Given the description of an element on the screen output the (x, y) to click on. 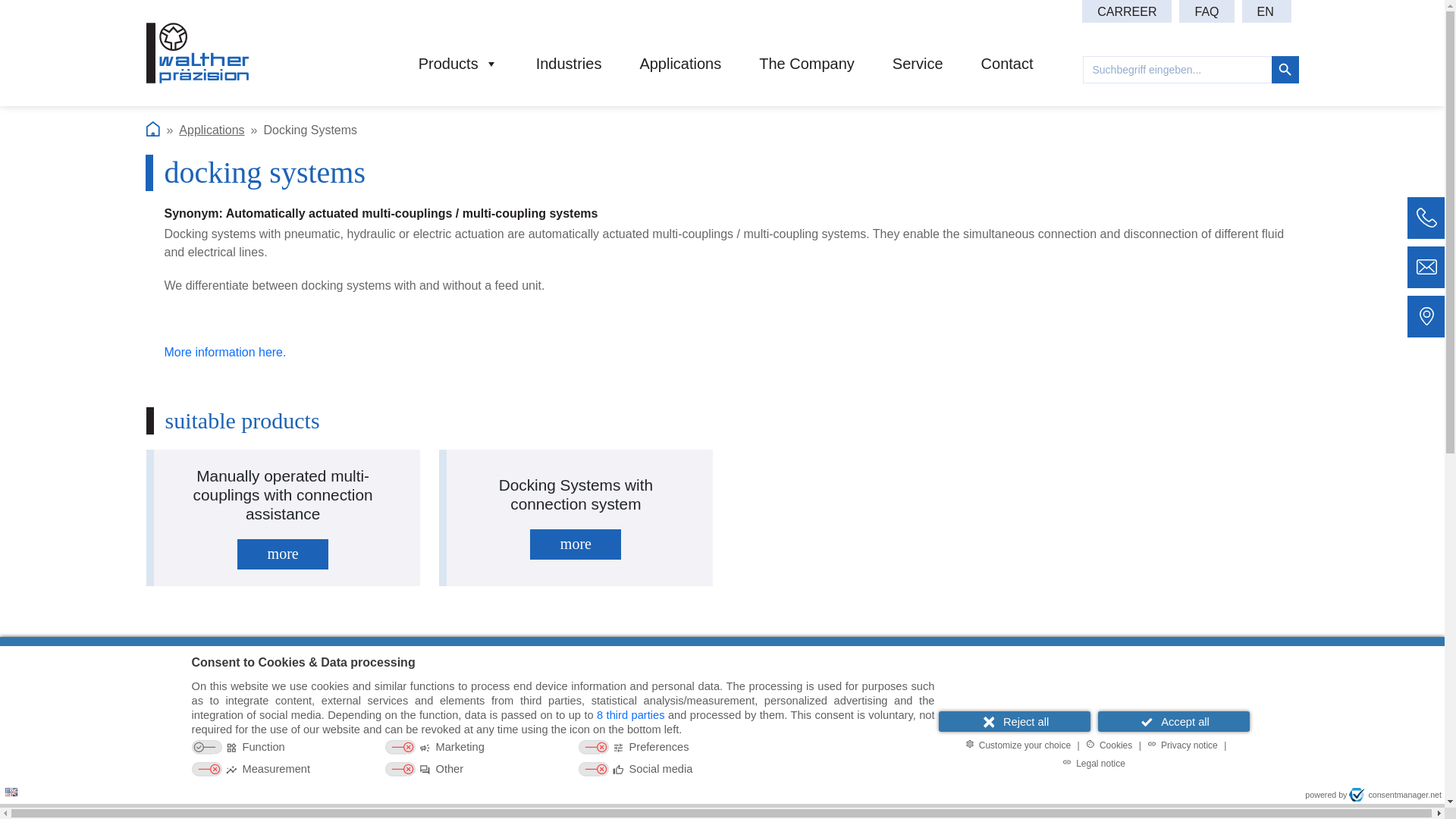
Language: en (11, 791)
Purpose (562, 759)
CARREER (1126, 11)
consentmanager.net (1395, 794)
Accept all (1173, 721)
Products (457, 74)
Reject all (1014, 721)
Customize your choice (1017, 744)
Privacy notice (1181, 744)
Cookies (1108, 744)
EN (1266, 11)
FAQ (1206, 11)
EN (1266, 11)
8 third parties (629, 715)
Privacy settings (17, 789)
